Given the description of an element on the screen output the (x, y) to click on. 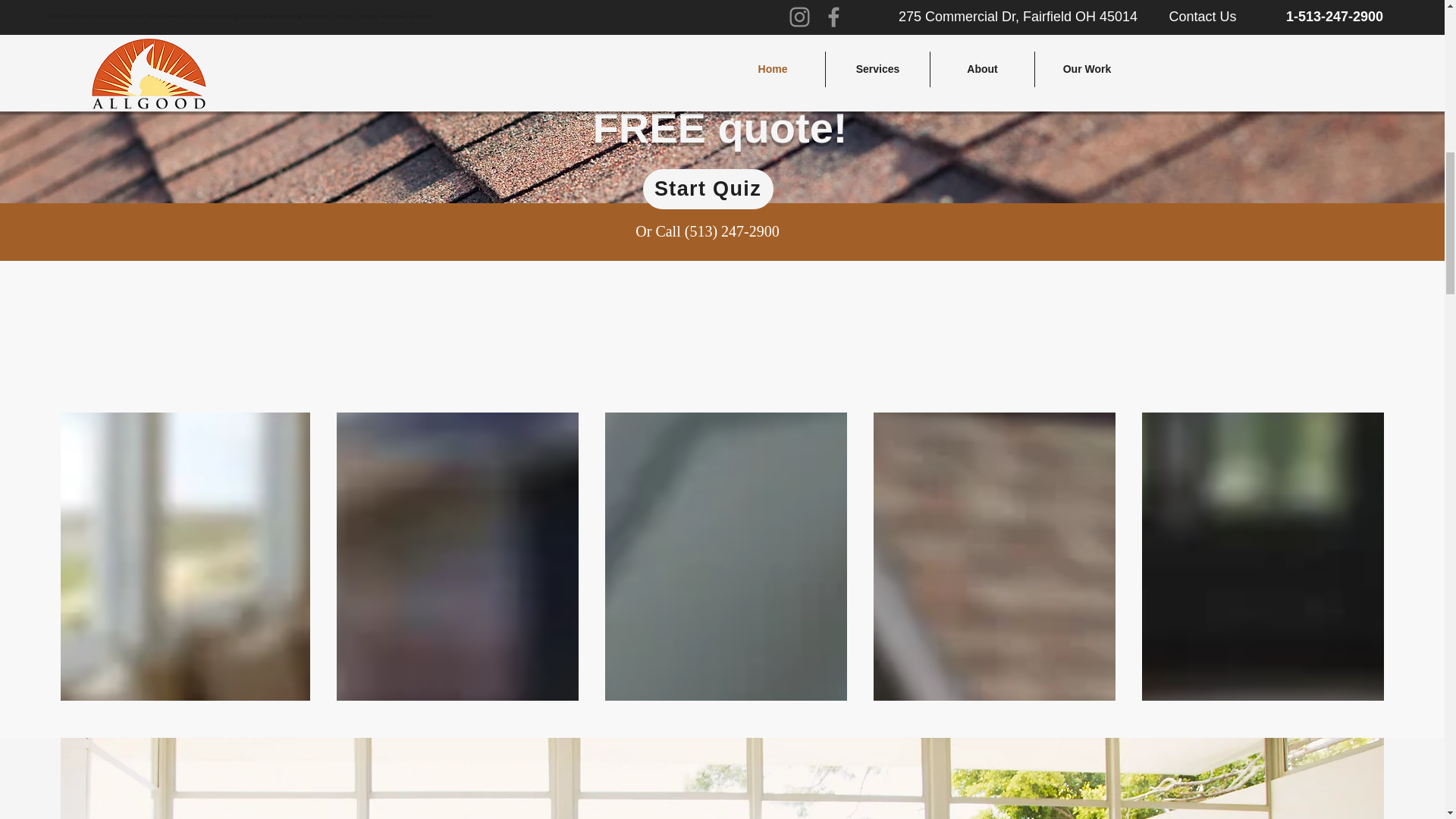
Start Quiz (708, 188)
